Given the description of an element on the screen output the (x, y) to click on. 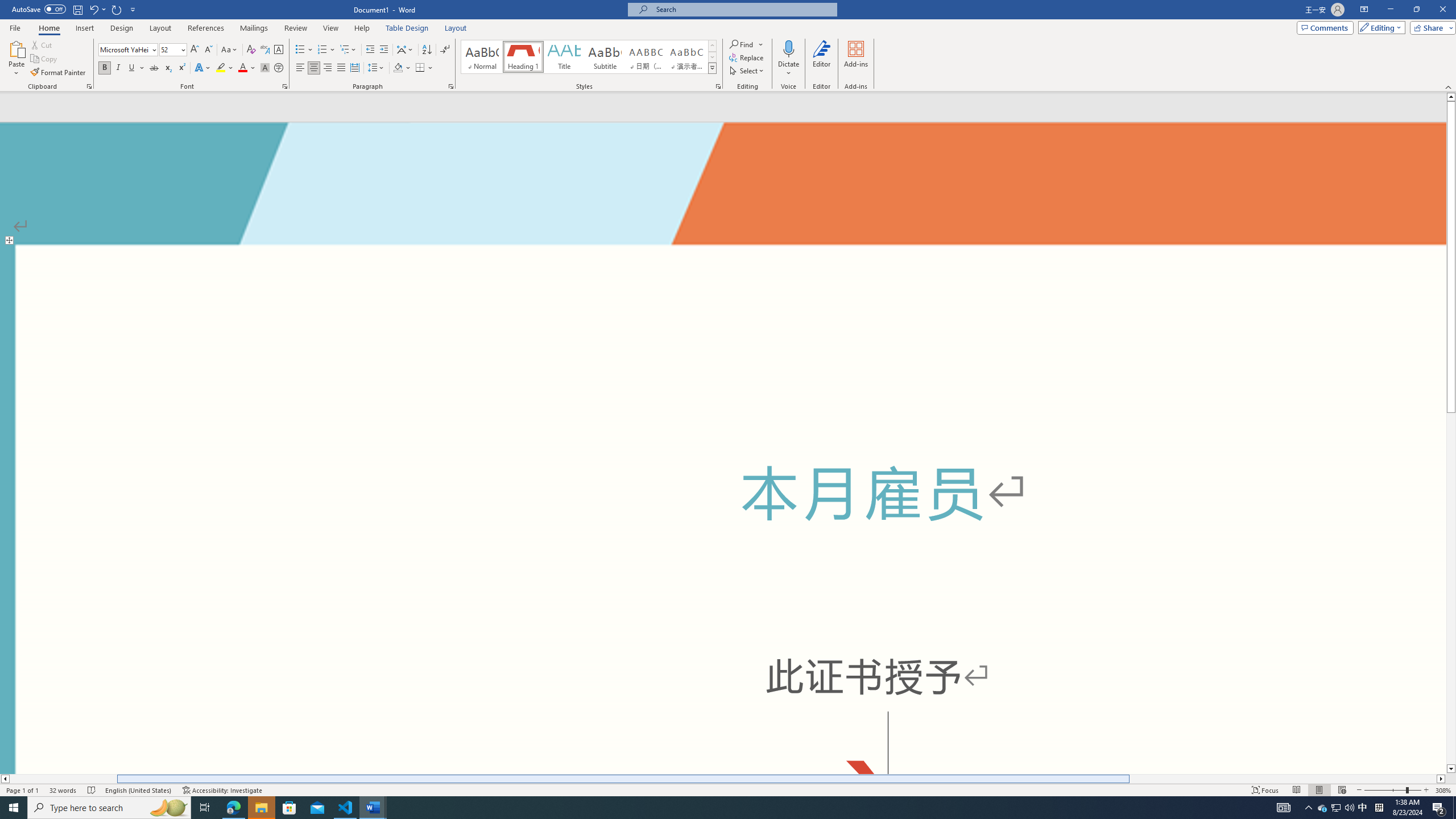
Header -Section 1- (722, 163)
Align Left (300, 67)
Show/Hide Editing Marks (444, 49)
Clear Formatting (250, 49)
Increase Indent (383, 49)
Table Design (407, 28)
Microsoft search (742, 9)
